Given the description of an element on the screen output the (x, y) to click on. 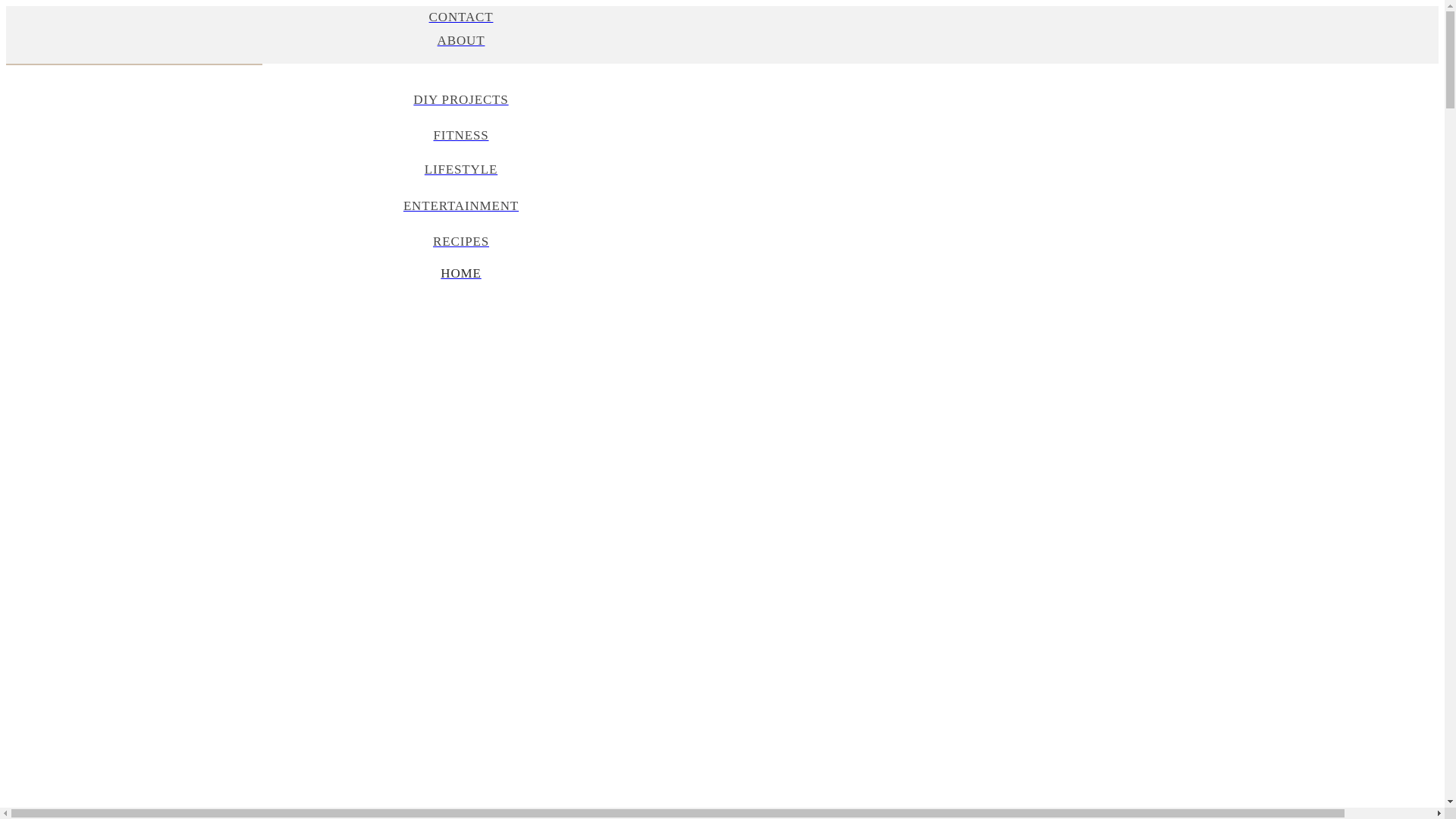
ENTERTAINMENT (460, 206)
LIFESTYLE (460, 169)
CONTACT (460, 17)
HOME (460, 273)
RECIPES (460, 241)
DIY PROJECTS (460, 100)
FITNESS (460, 136)
ABOUT (460, 52)
